Given the description of an element on the screen output the (x, y) to click on. 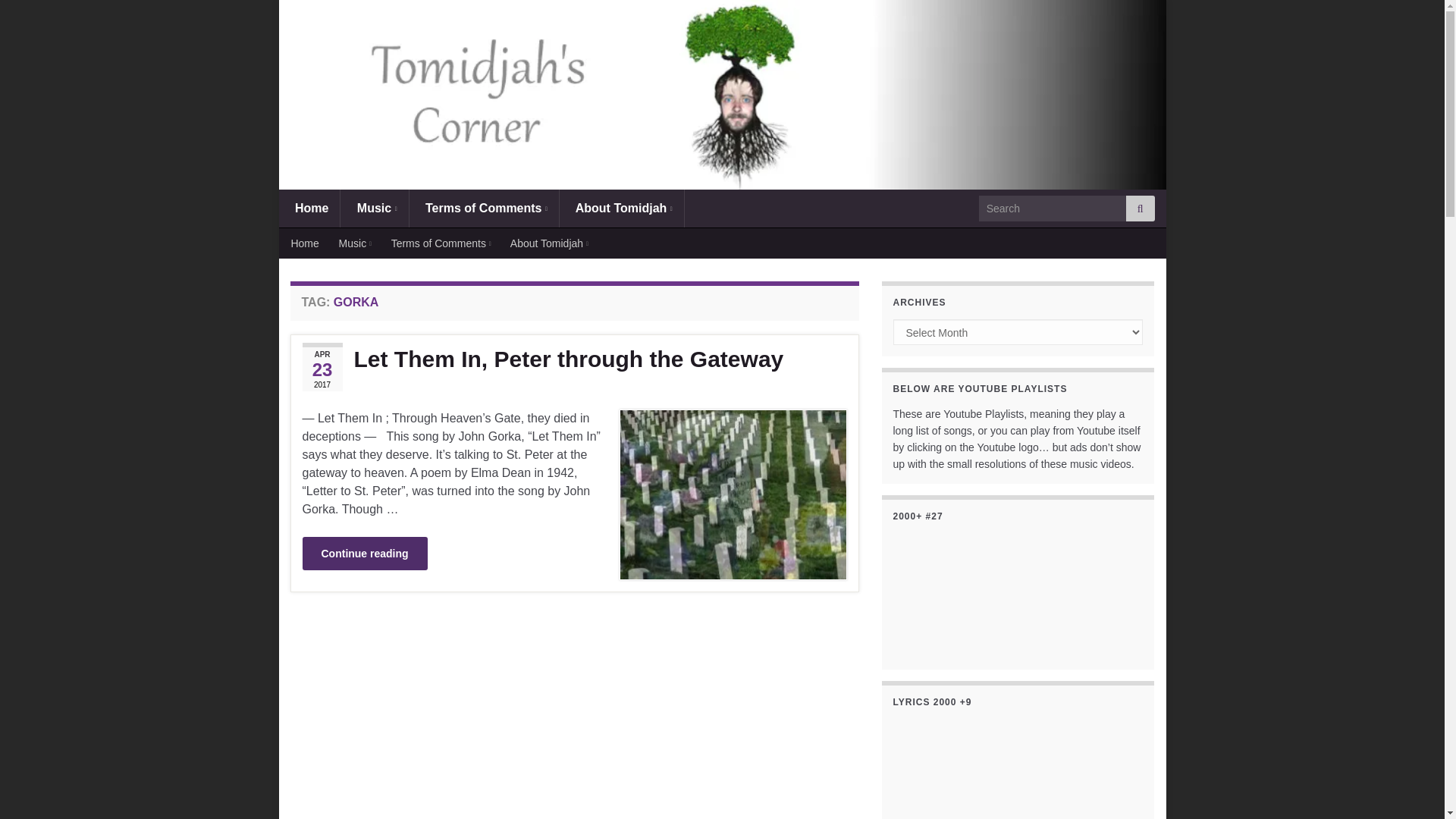
Terms of Comments (484, 208)
Music (373, 208)
Home (309, 208)
Permalink to Let Them In, Peter through the Gateway (573, 359)
About Tomidjah (621, 208)
